Given the description of an element on the screen output the (x, y) to click on. 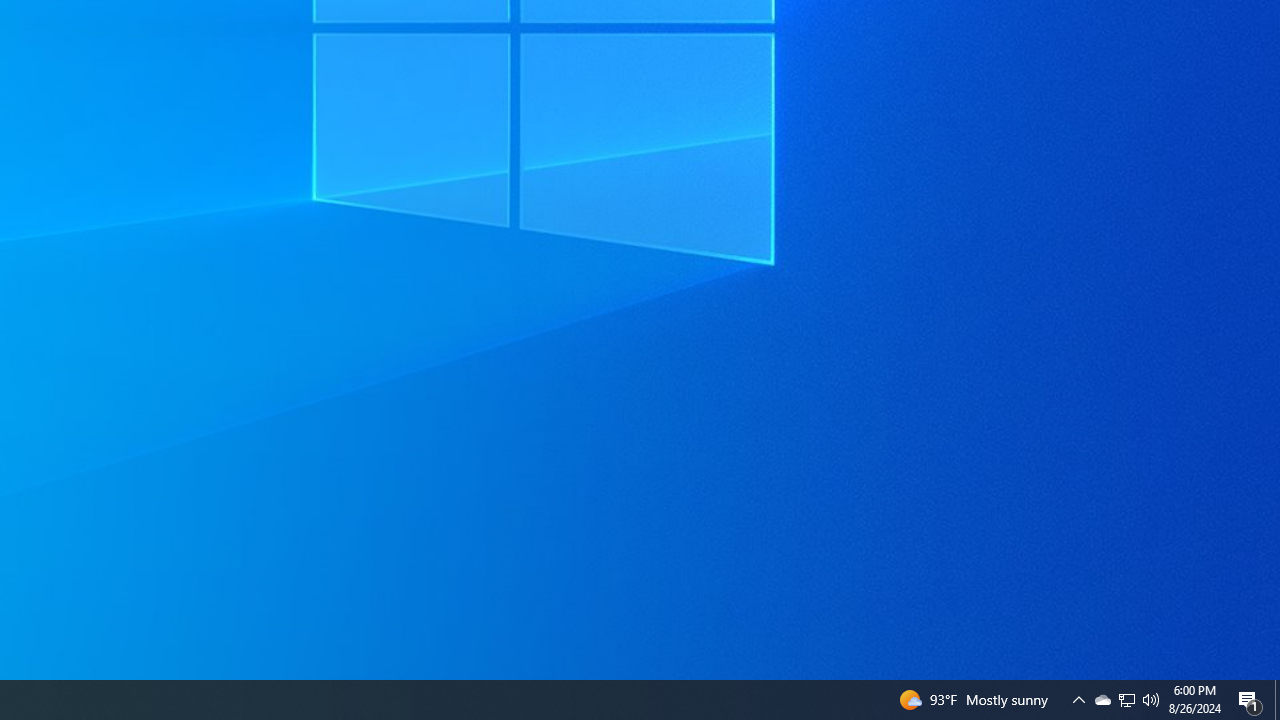
Show desktop (1277, 699)
Action Center, 1 new notification (1250, 699)
Q2790: 100% (1151, 699)
User Promoted Notification Area (1126, 699)
Notification Chevron (1126, 699)
